Given the description of an element on the screen output the (x, y) to click on. 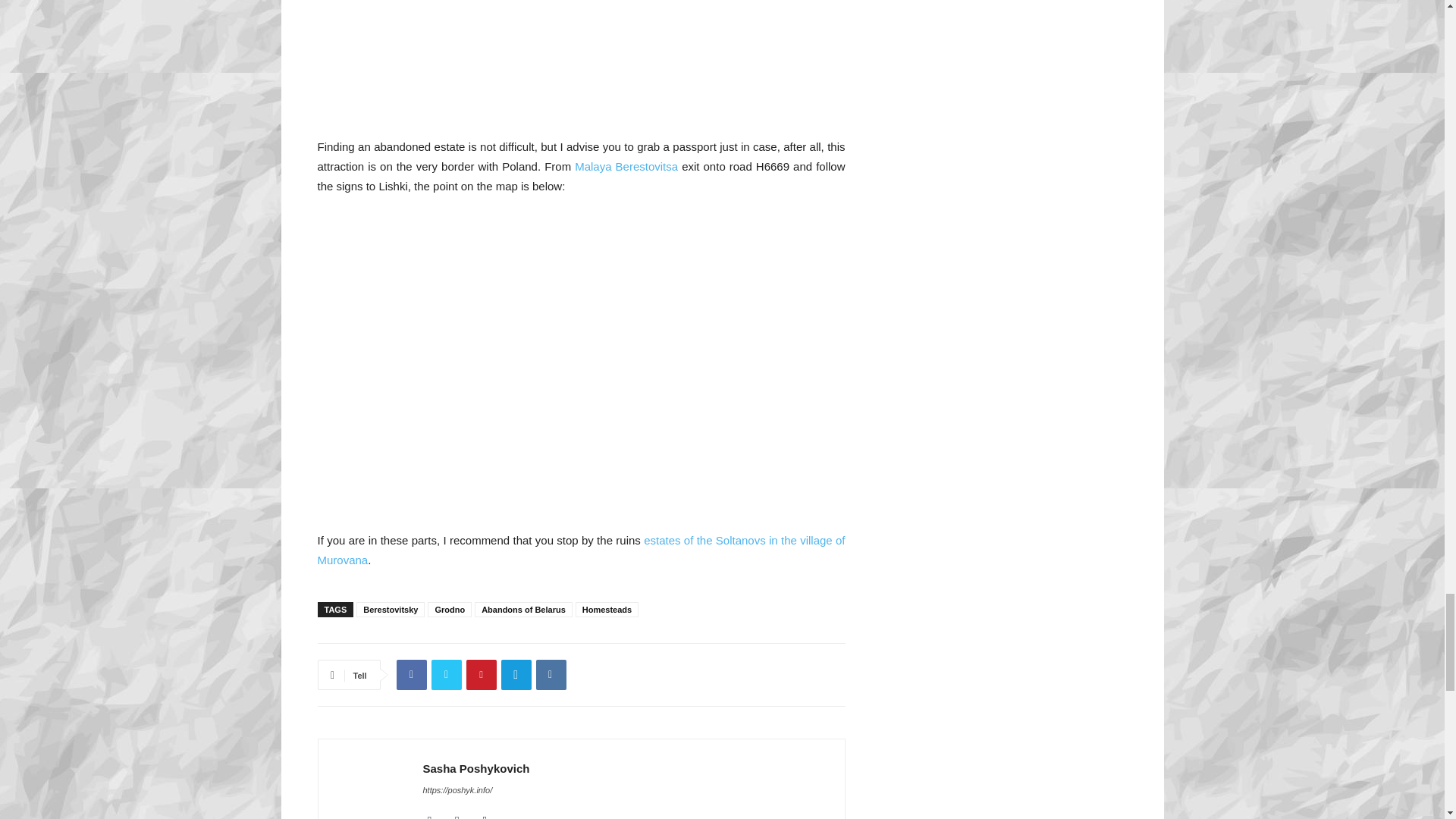
Malaya Berestovitsa (626, 165)
